Given the description of an element on the screen output the (x, y) to click on. 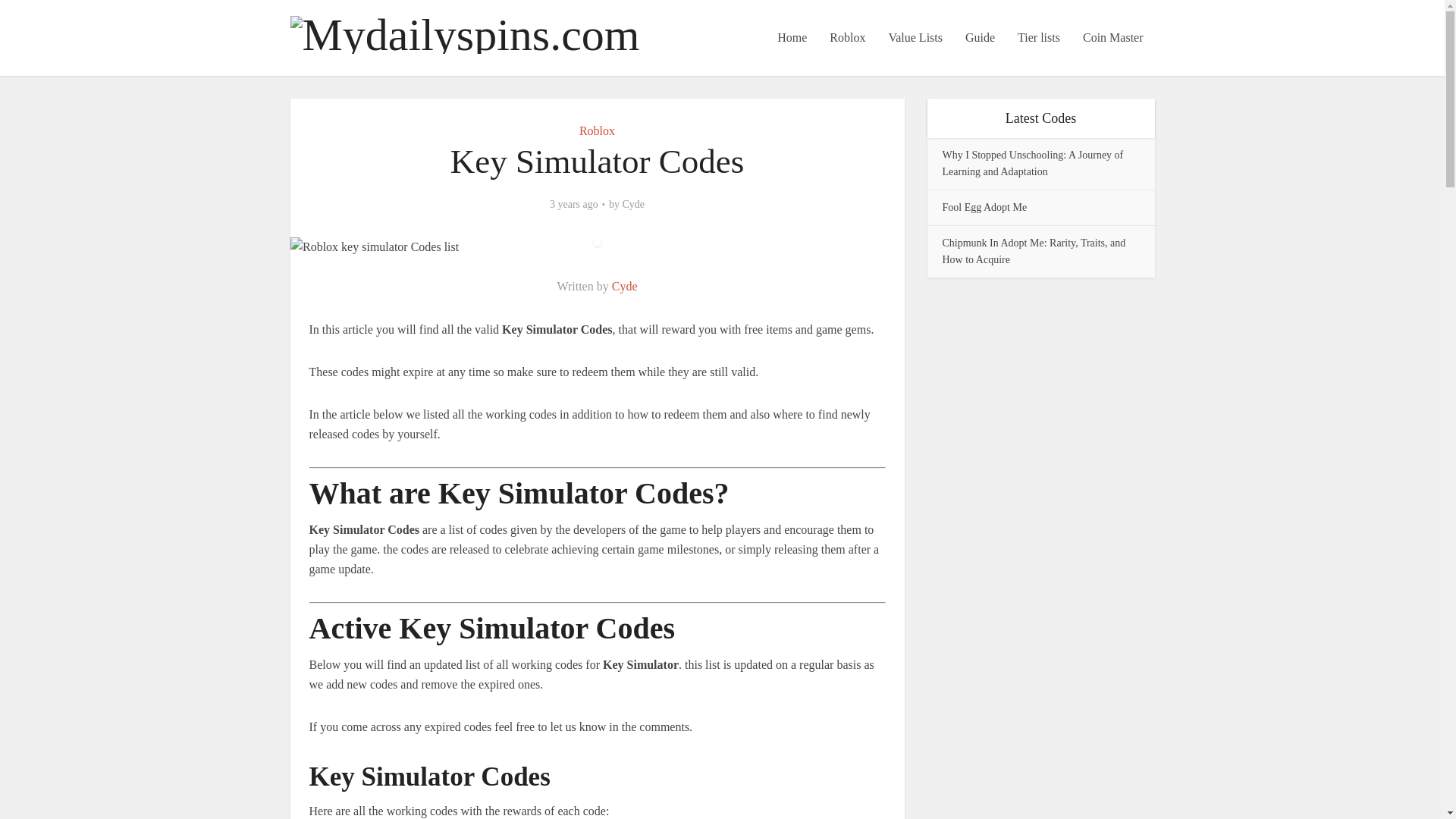
Cyde (633, 204)
Roblox (596, 130)
Coin Master (1112, 38)
Cyde (624, 286)
Value Lists (914, 38)
